Given the description of an element on the screen output the (x, y) to click on. 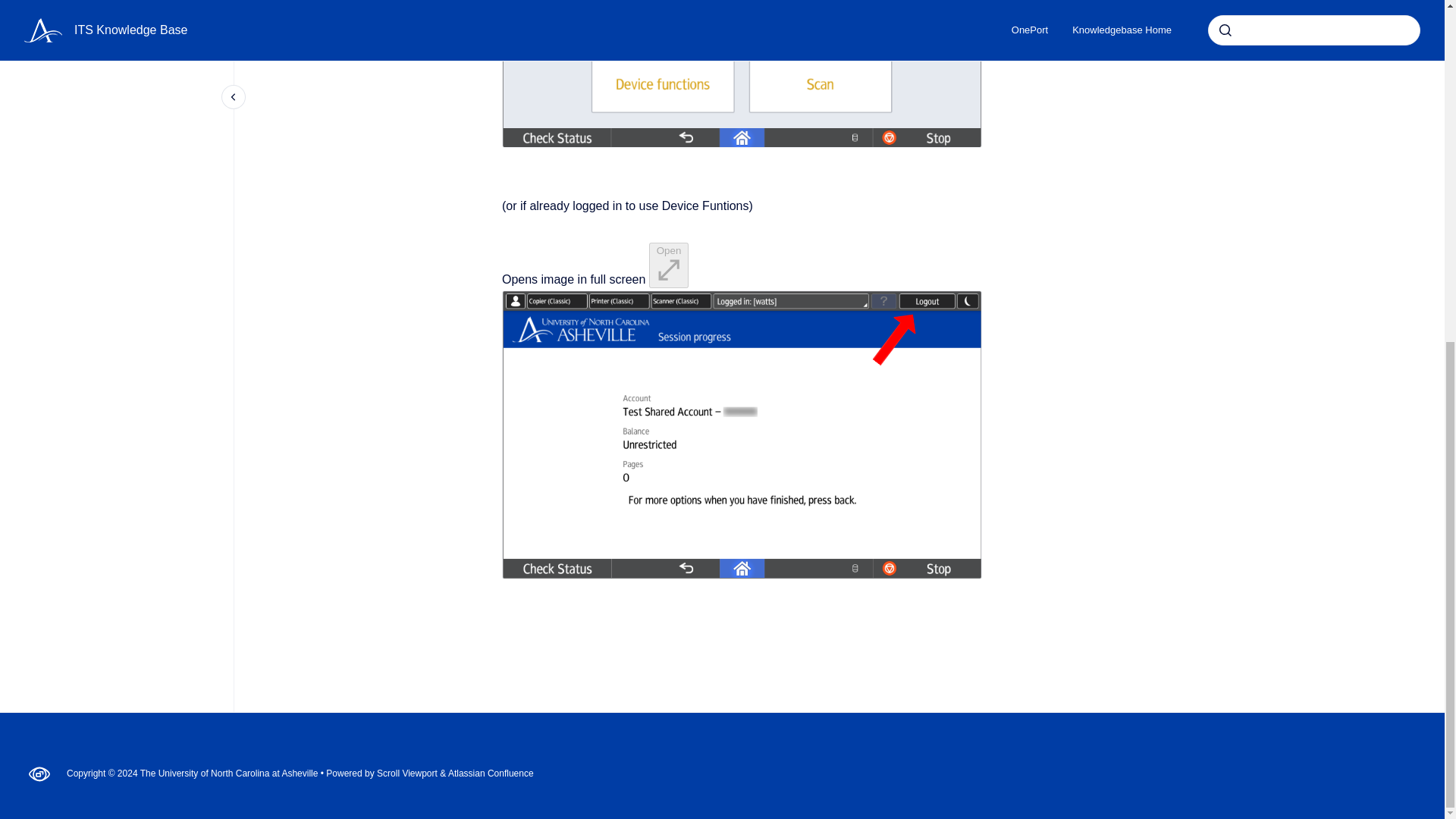
Scroll Viewport (408, 773)
Atlassian Confluence (491, 773)
